Given the description of an element on the screen output the (x, y) to click on. 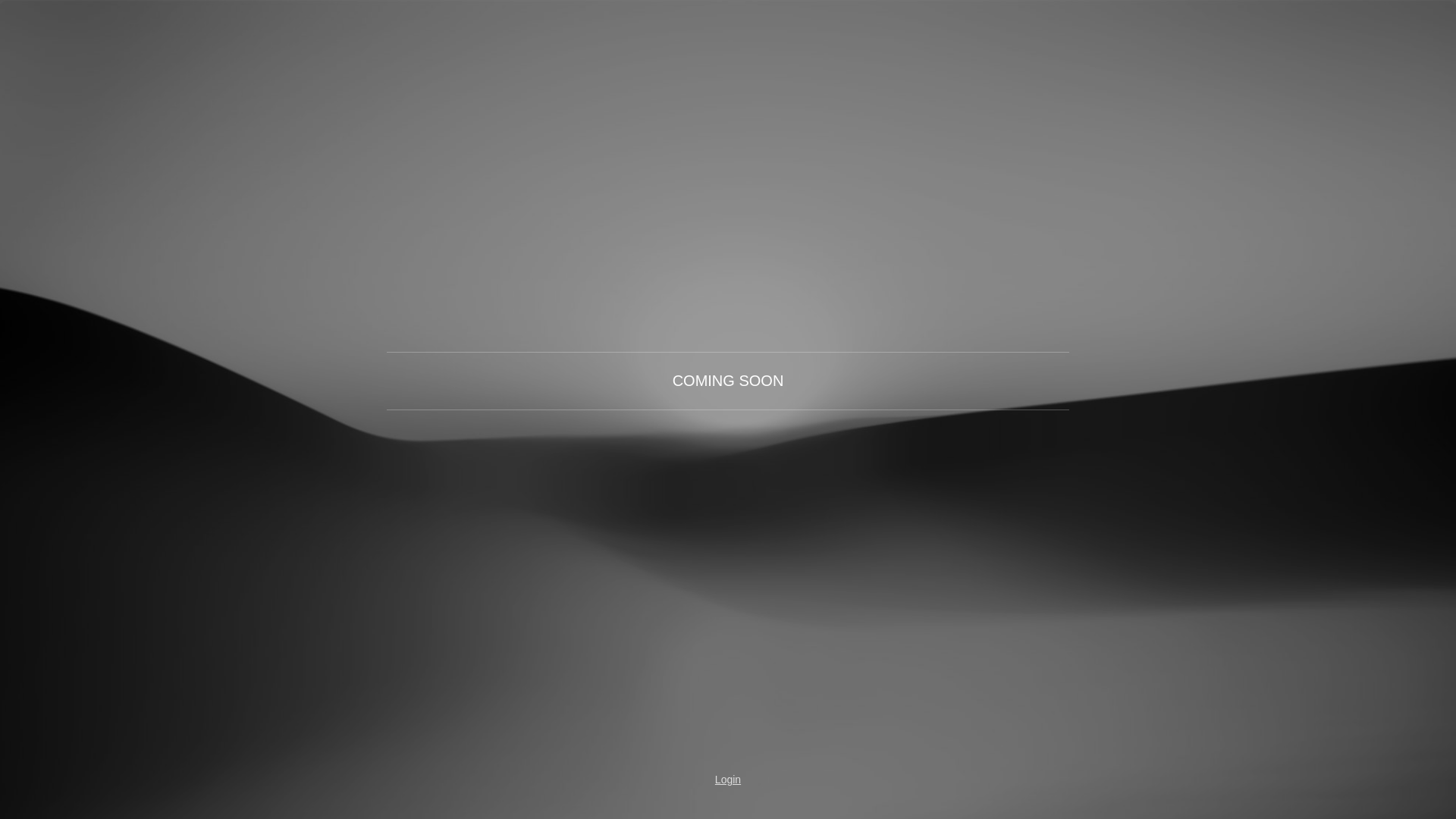
Login Element type: text (727, 779)
